Given the description of an element on the screen output the (x, y) to click on. 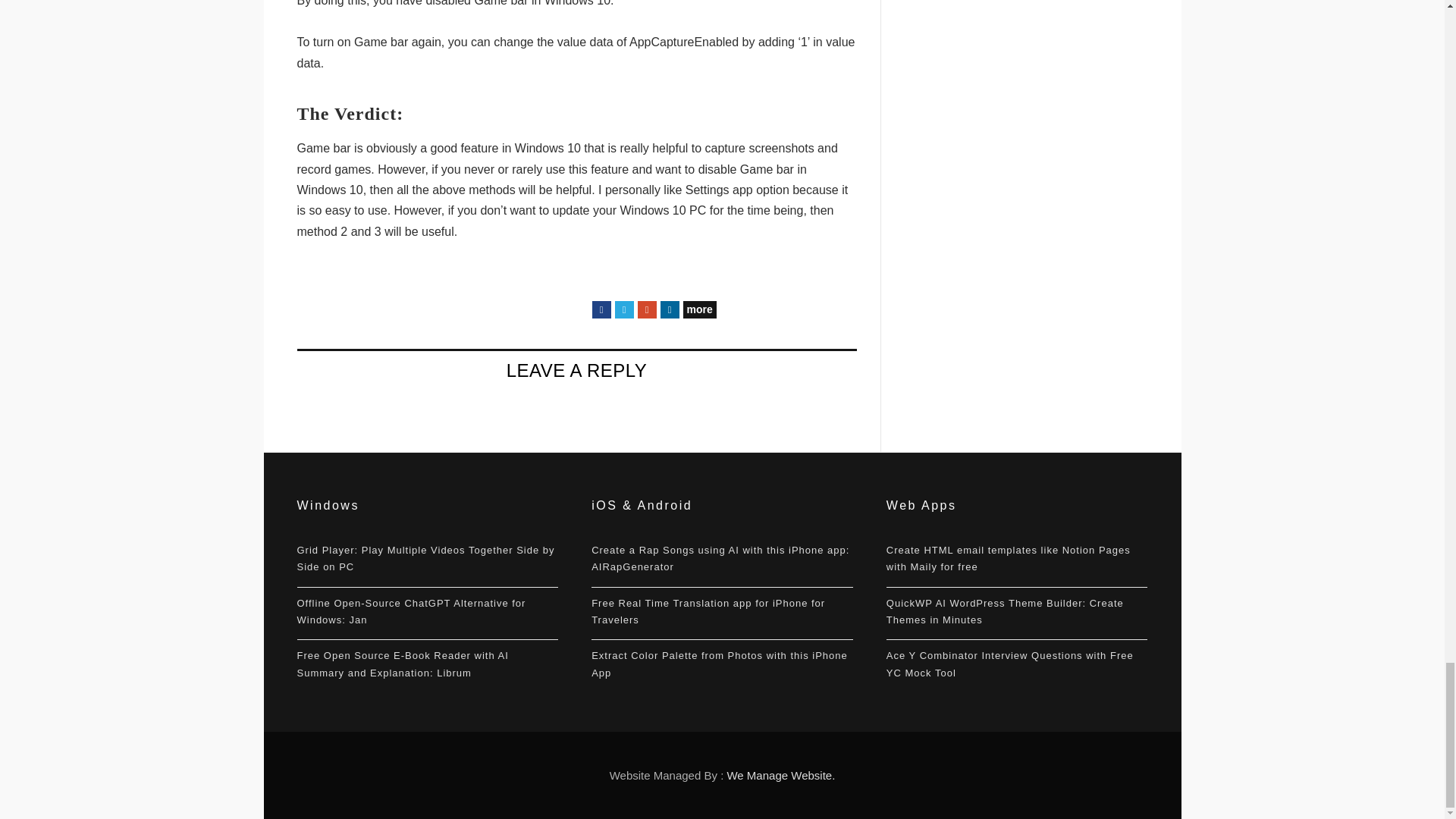
Facebook (600, 309)
Share on Facebook (600, 309)
Twitter (623, 309)
Share on LinkedIn (668, 309)
Tweet It (623, 309)
LinkedIn (668, 309)
